Given the description of an element on the screen output the (x, y) to click on. 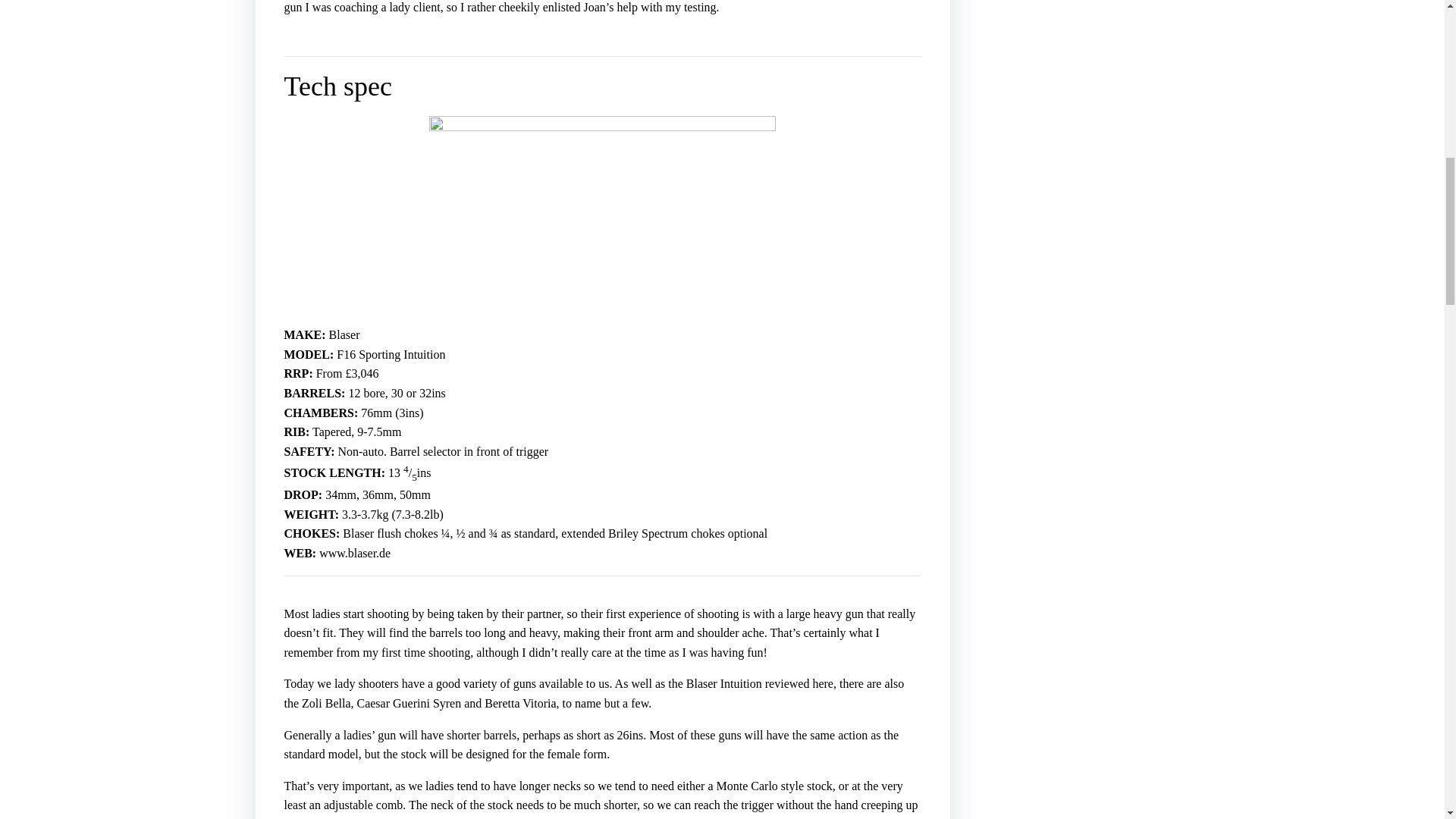
www.blaser.de (354, 553)
